Given the description of an element on the screen output the (x, y) to click on. 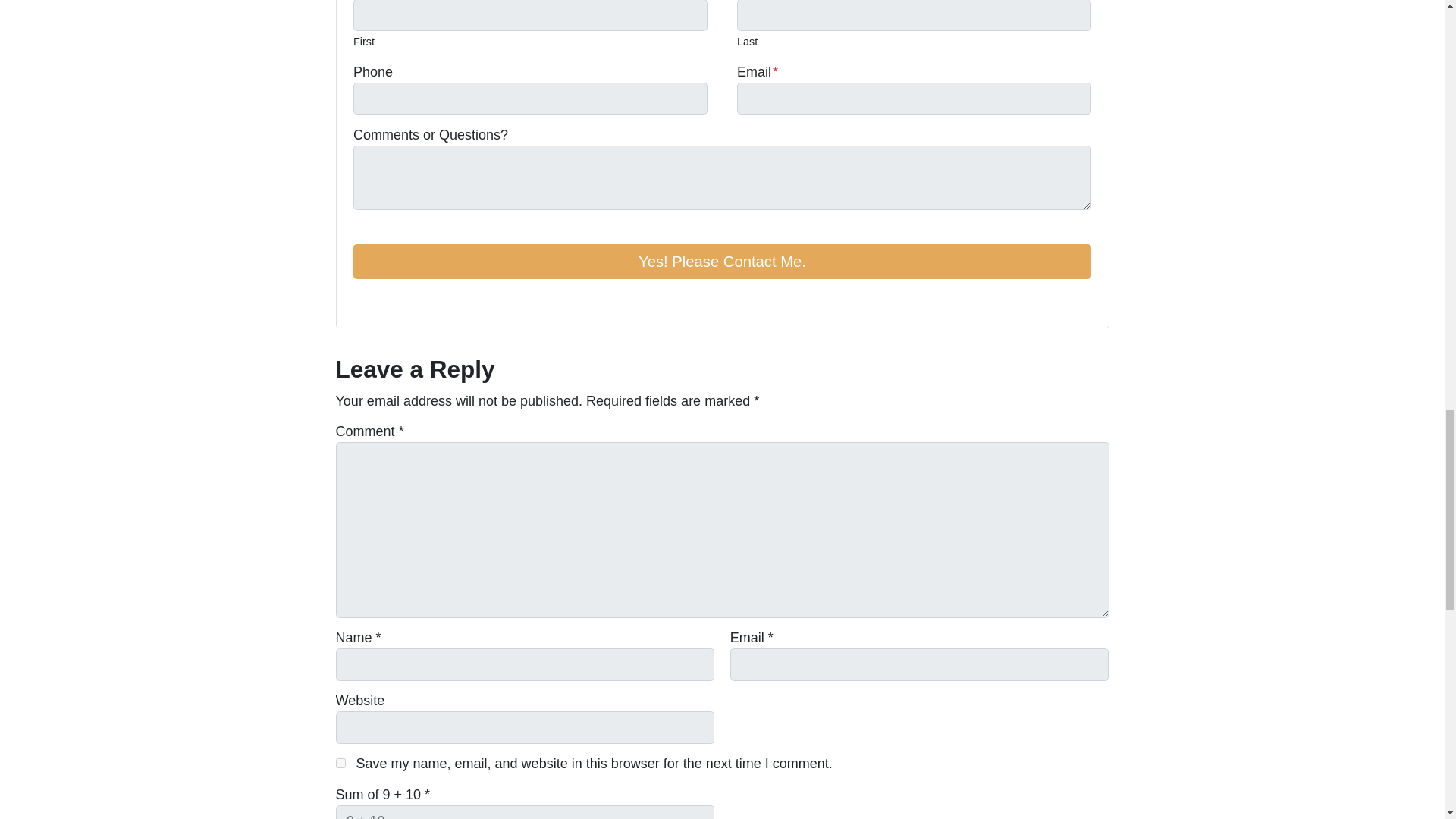
Yes! Please Contact Me.  (721, 261)
LinkedIn (404, 301)
Facebook (362, 301)
Zillow (447, 301)
yes (339, 763)
Yes! Please Contact Me.  (721, 261)
YouTube (383, 301)
Instagram (425, 301)
